Given the description of an element on the screen output the (x, y) to click on. 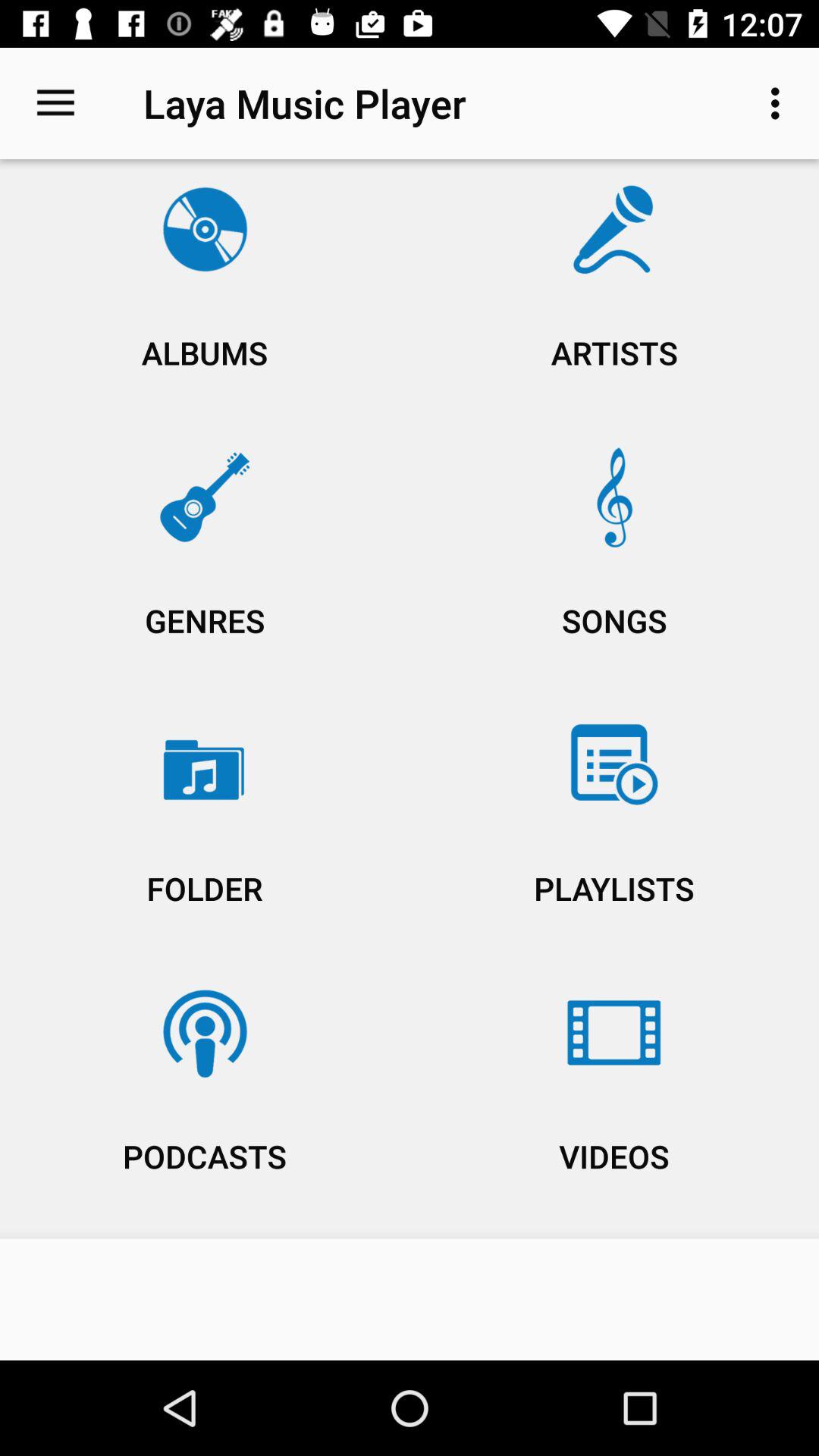
choose the icon below the albums icon (204, 565)
